Given the description of an element on the screen output the (x, y) to click on. 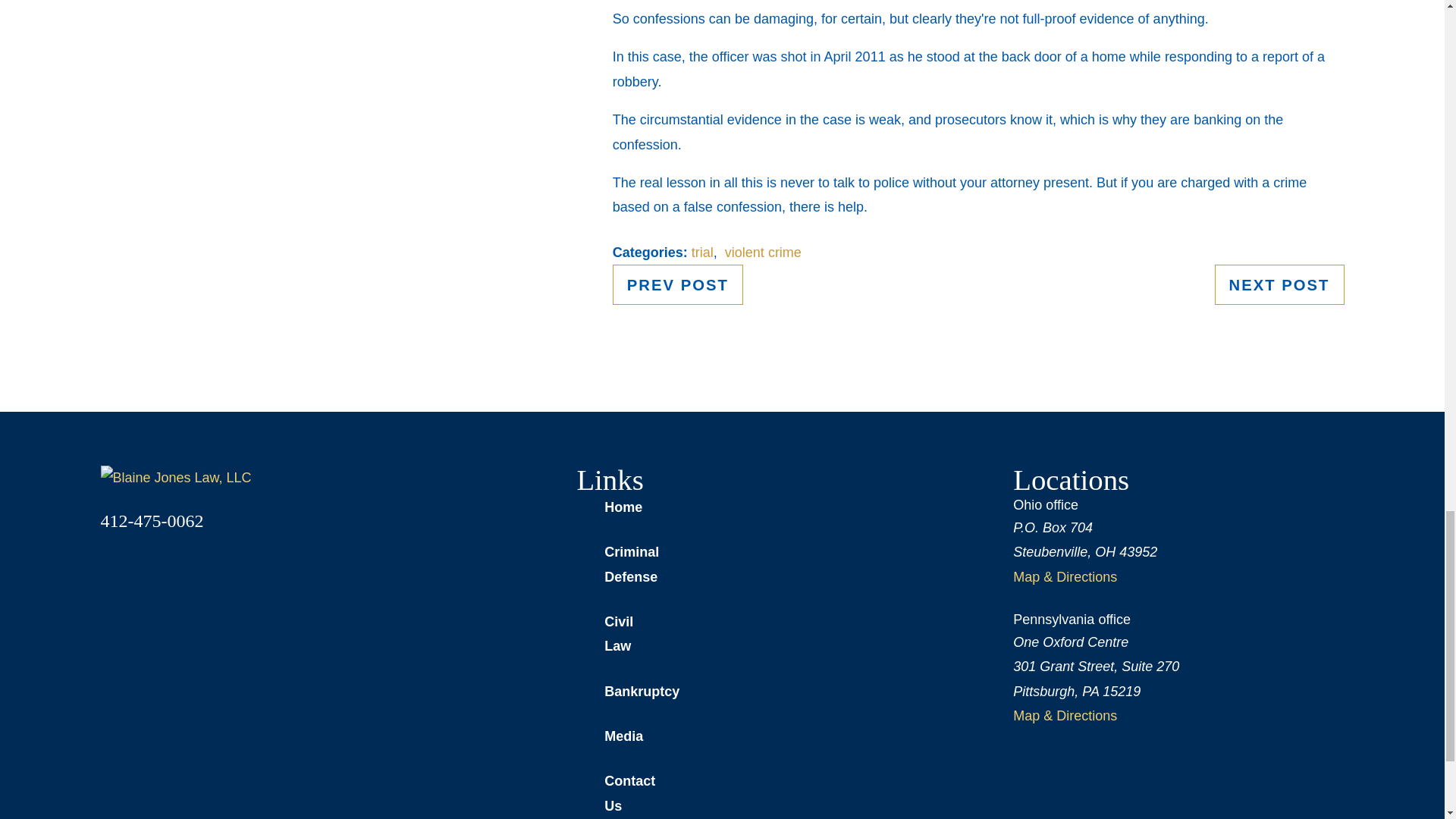
Facebook (109, 565)
Twitter (148, 565)
LinkedIn (188, 565)
Home (175, 477)
